Given the description of an element on the screen output the (x, y) to click on. 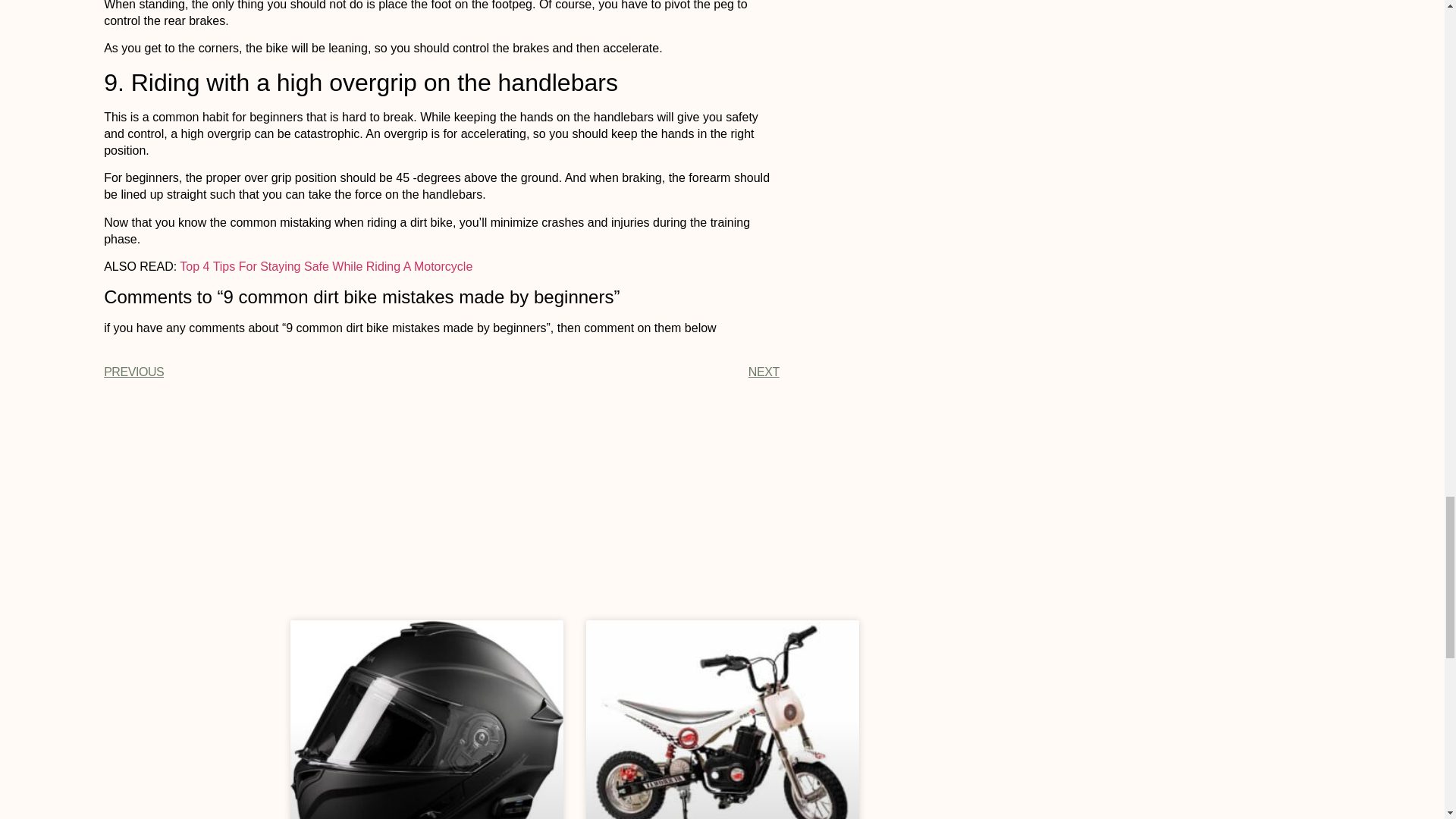
Top 4 Tips For Staying Safe While Riding A Motorcycle (325, 266)
NEXT (609, 372)
PREVIOUS (272, 372)
